Given the description of an element on the screen output the (x, y) to click on. 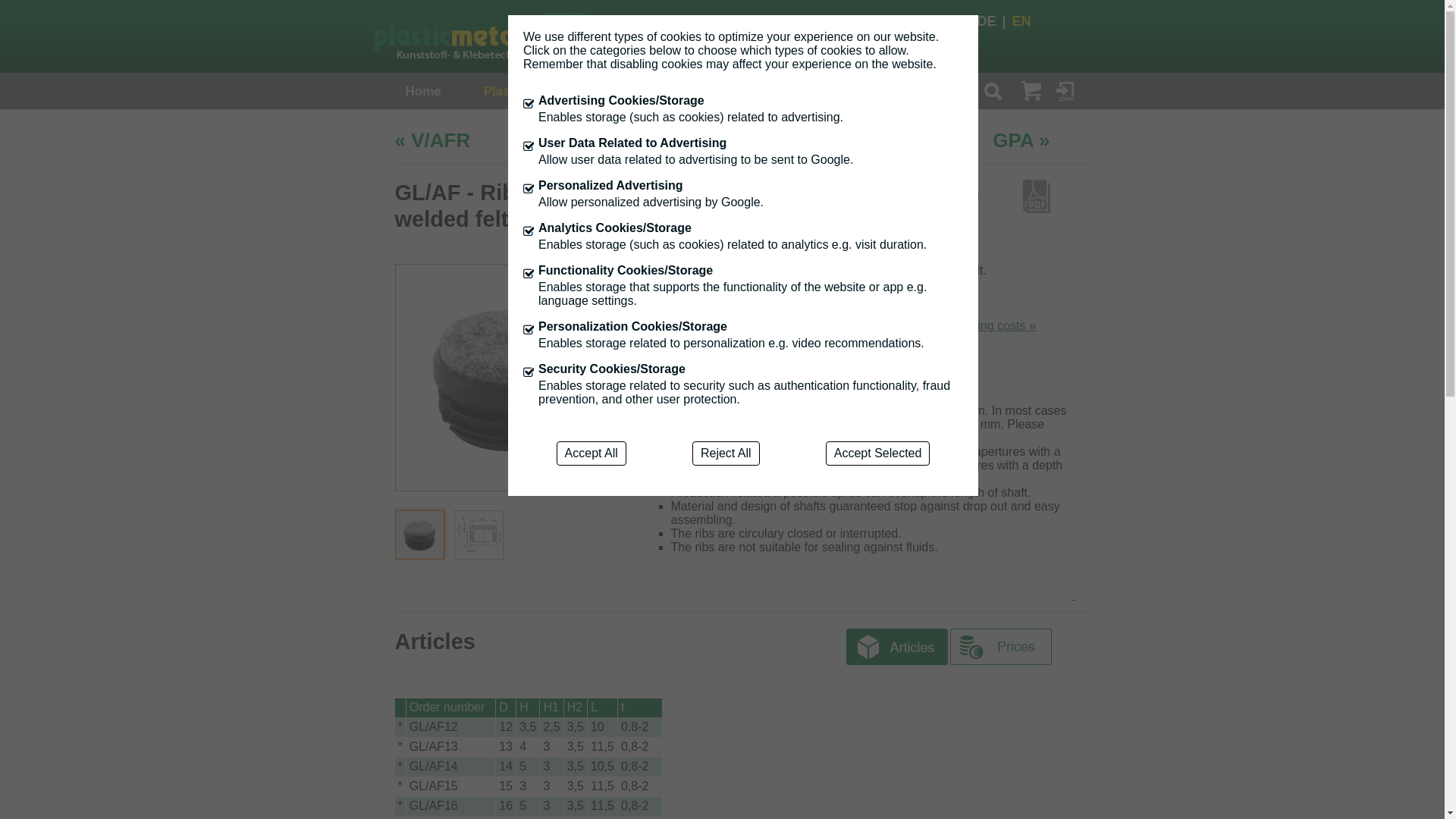
English (1023, 20)
Plastic Parts-SHOP (543, 90)
Deutsch (993, 20)
EN (1023, 20)
DE (993, 20)
Home (422, 90)
